Given the description of an element on the screen output the (x, y) to click on. 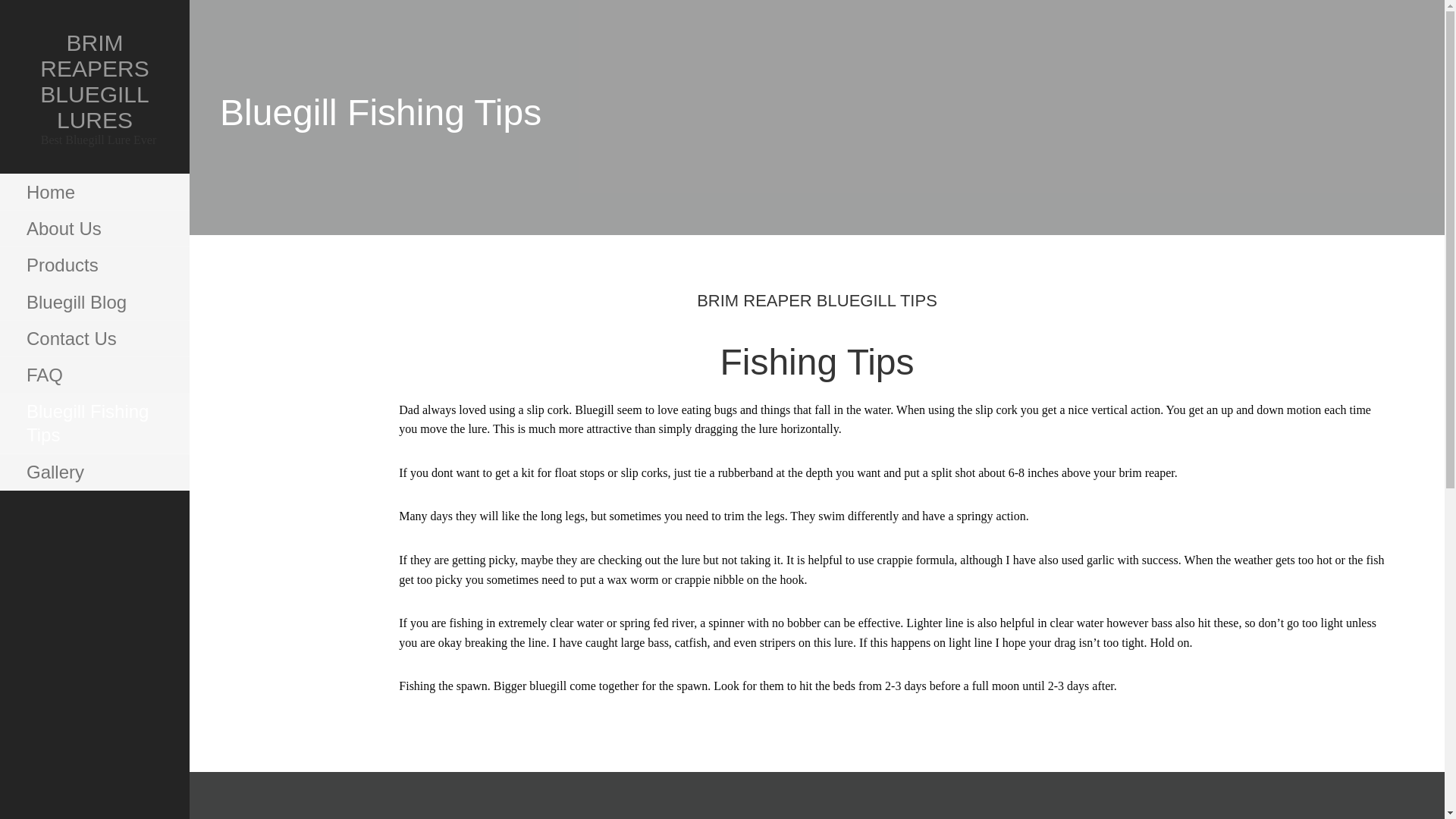
brim reaper (1145, 472)
Bluegill Blog (94, 302)
Products (94, 265)
FAQ (94, 375)
Home (94, 192)
BRIM REAPERS BLUEGILL LURES (94, 81)
Gallery (94, 471)
Contact Us (94, 339)
Bluegill Fishing Tips (94, 423)
About Us (94, 228)
